Given the description of an element on the screen output the (x, y) to click on. 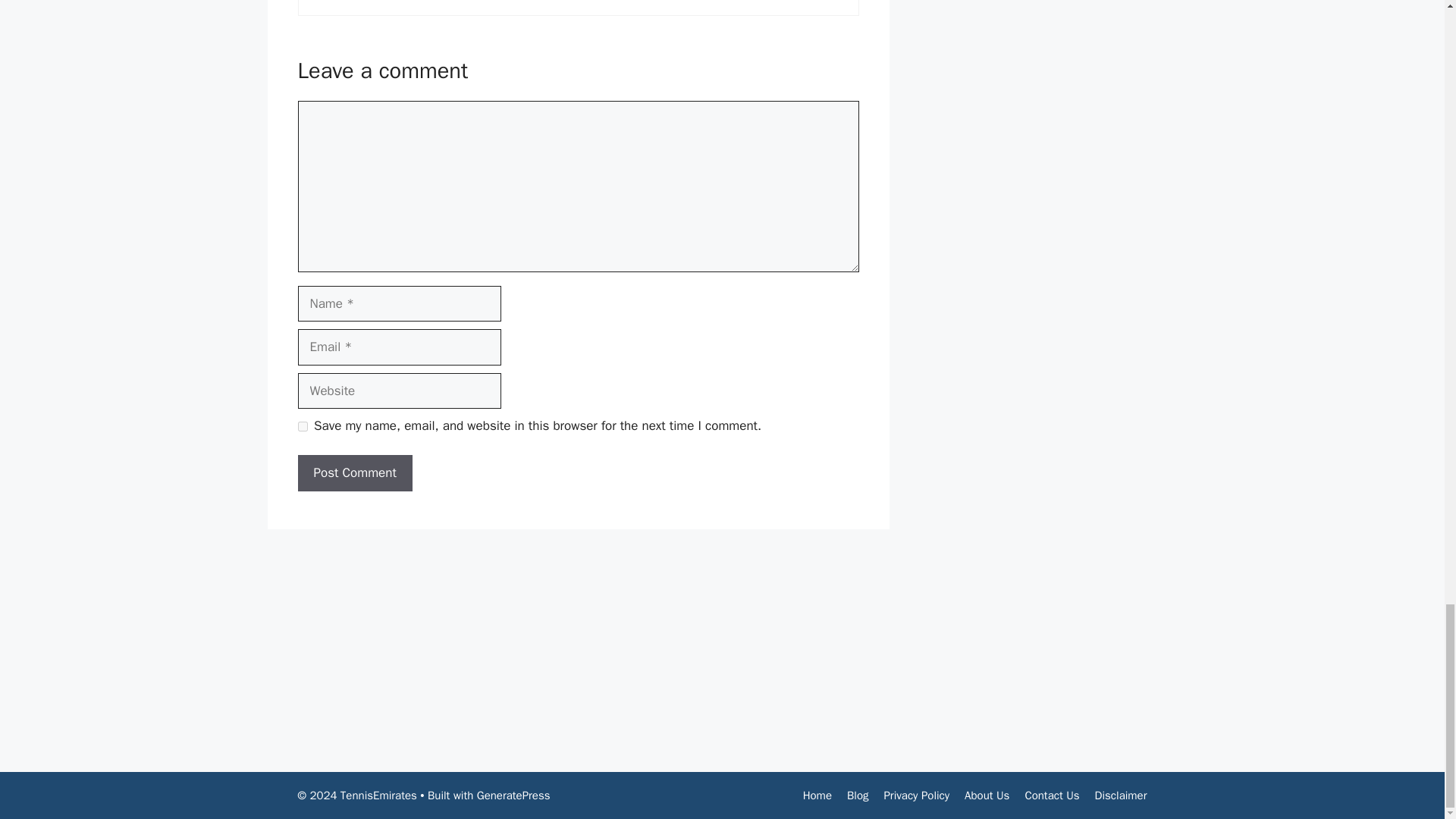
yes (302, 426)
Post Comment (354, 473)
Contact Us (1051, 795)
Disclaimer (1120, 795)
About Us (986, 795)
Post Comment (354, 473)
Home (817, 795)
Blog (857, 795)
Privacy Policy (916, 795)
